Given the description of an element on the screen output the (x, y) to click on. 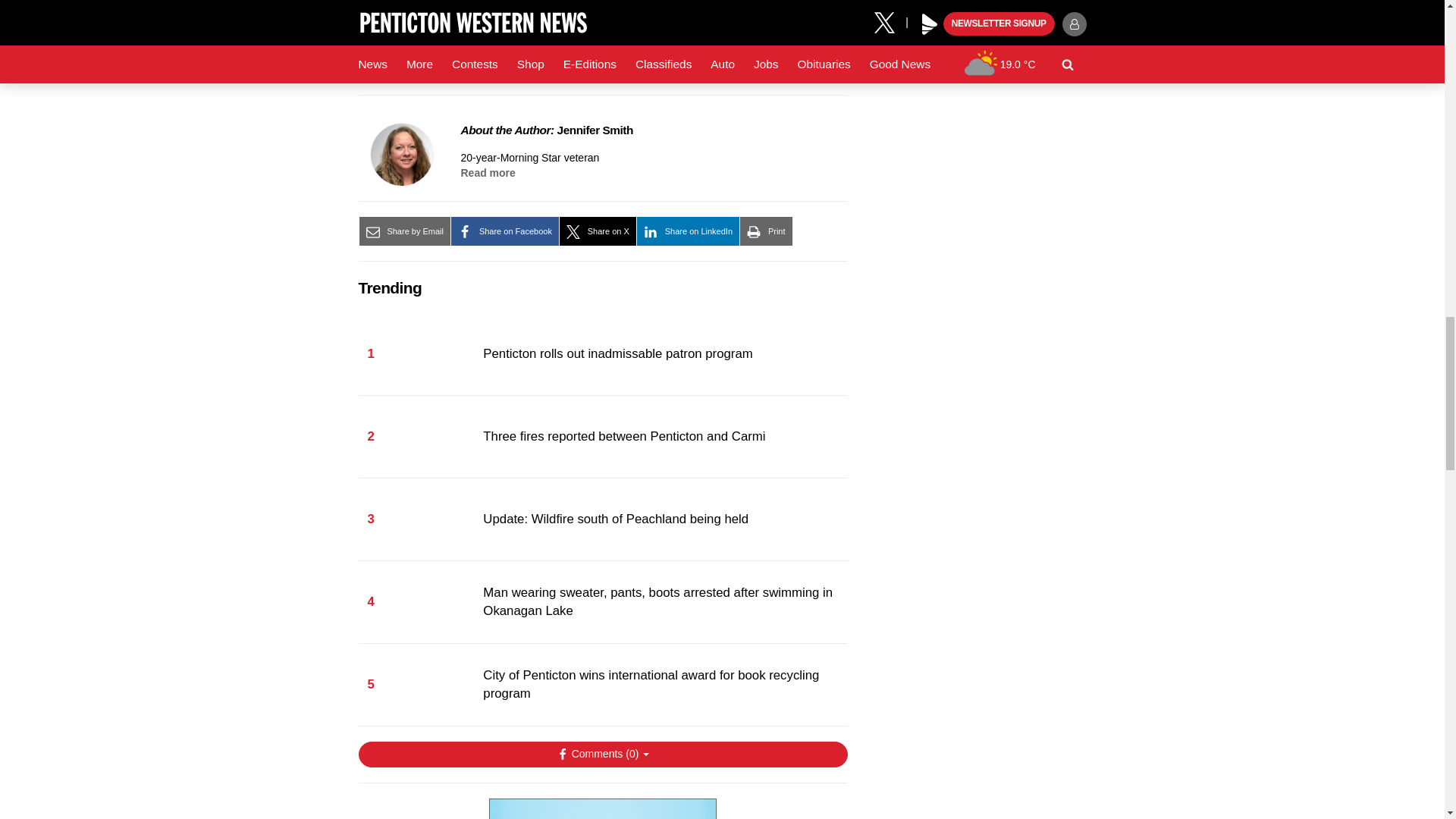
3rd party ad content (602, 808)
Show Comments (602, 754)
